Given the description of an element on the screen output the (x, y) to click on. 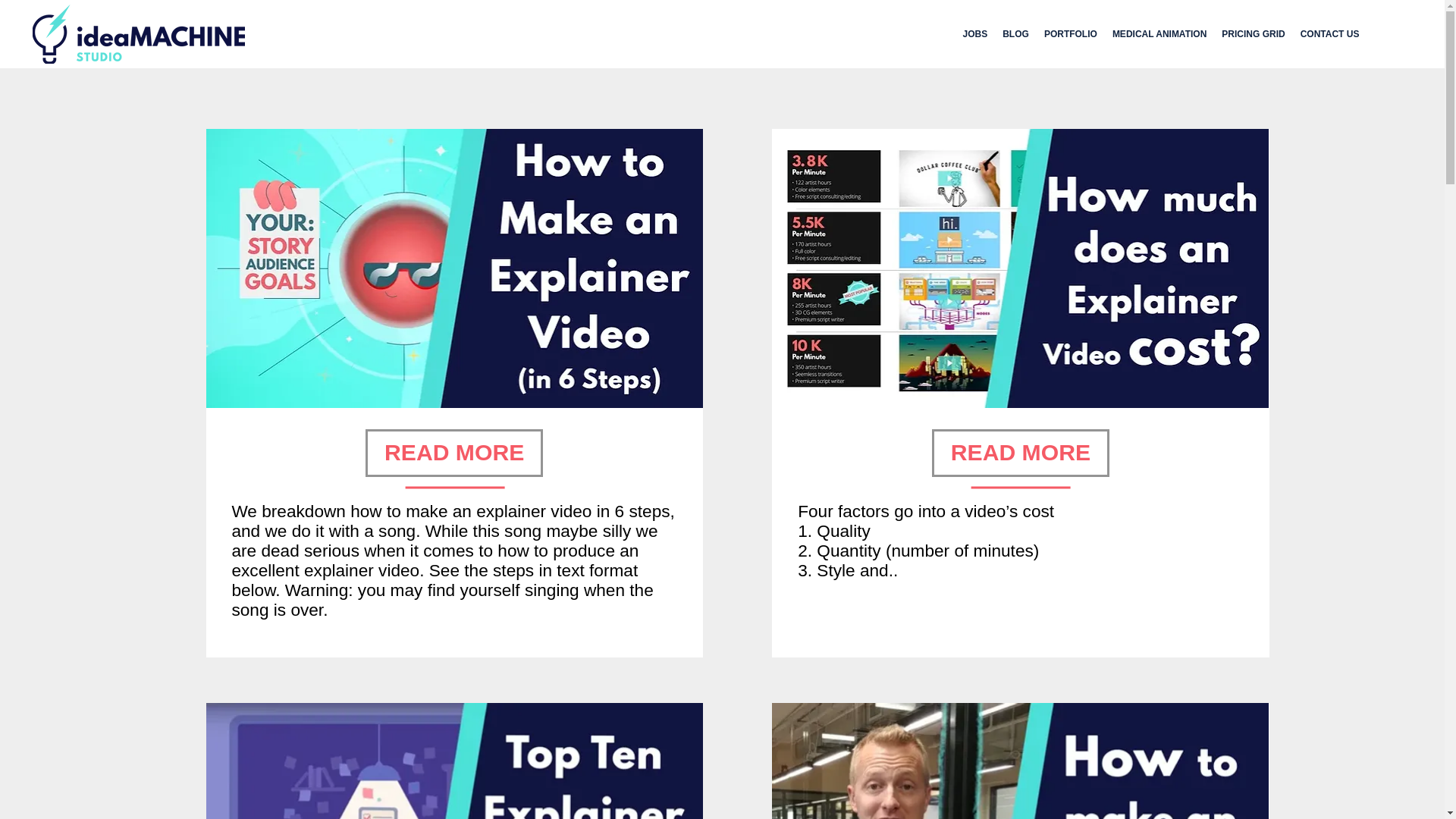
PORTFOLIO (1070, 33)
READ MORE (454, 452)
JOBS (975, 33)
PRICING GRID (1253, 33)
MEDICAL ANIMATION (1159, 33)
BLOG (1015, 33)
CONTACT US (1329, 33)
READ MORE (1020, 452)
